Given the description of an element on the screen output the (x, y) to click on. 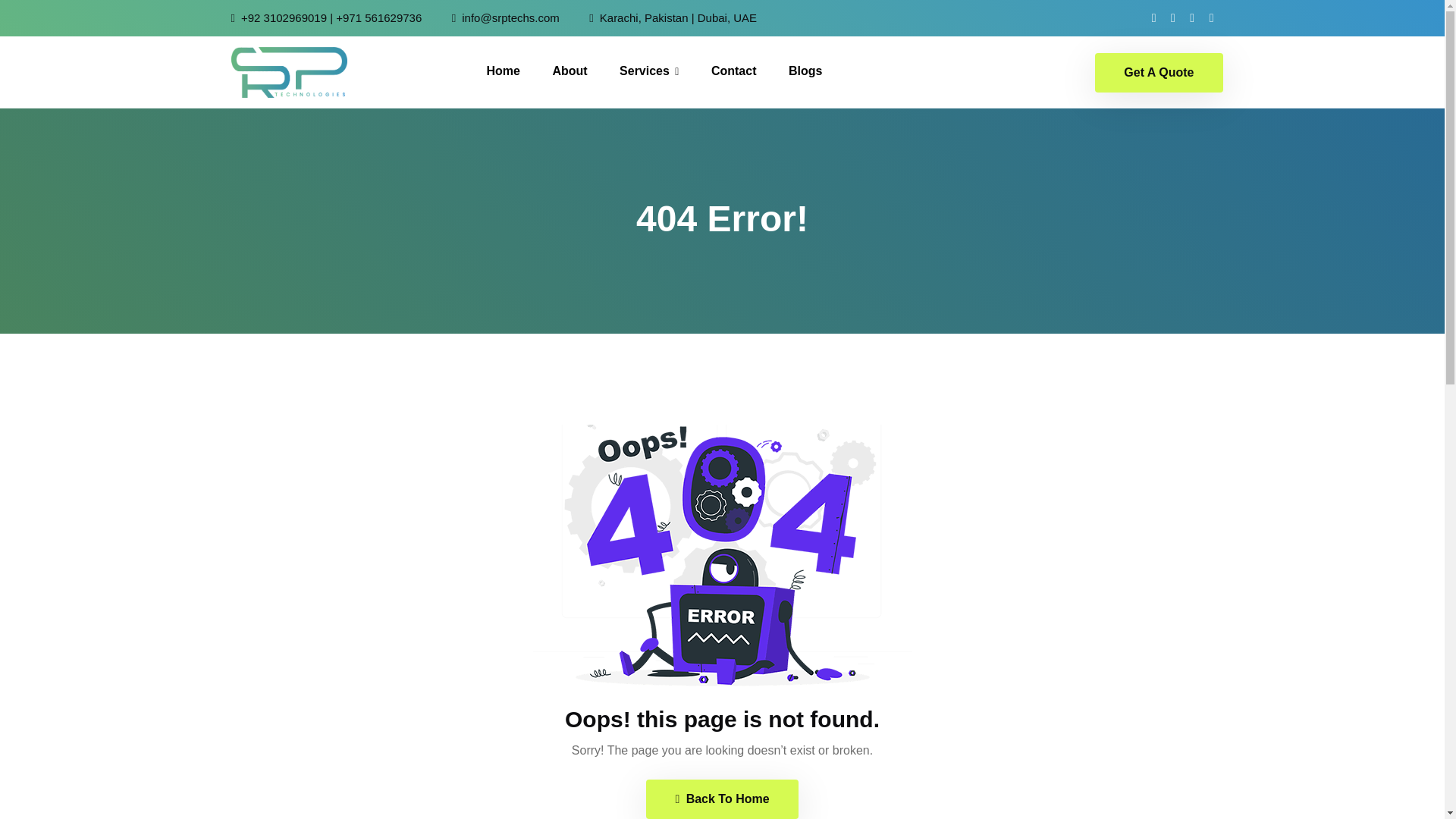
About (569, 71)
Home (502, 71)
Get A Quote (1158, 72)
Home (502, 71)
Services (649, 71)
Blogs (804, 71)
About (569, 71)
Contact (734, 71)
Contact (734, 71)
Blogs (804, 71)
Services (649, 71)
